Given the description of an element on the screen output the (x, y) to click on. 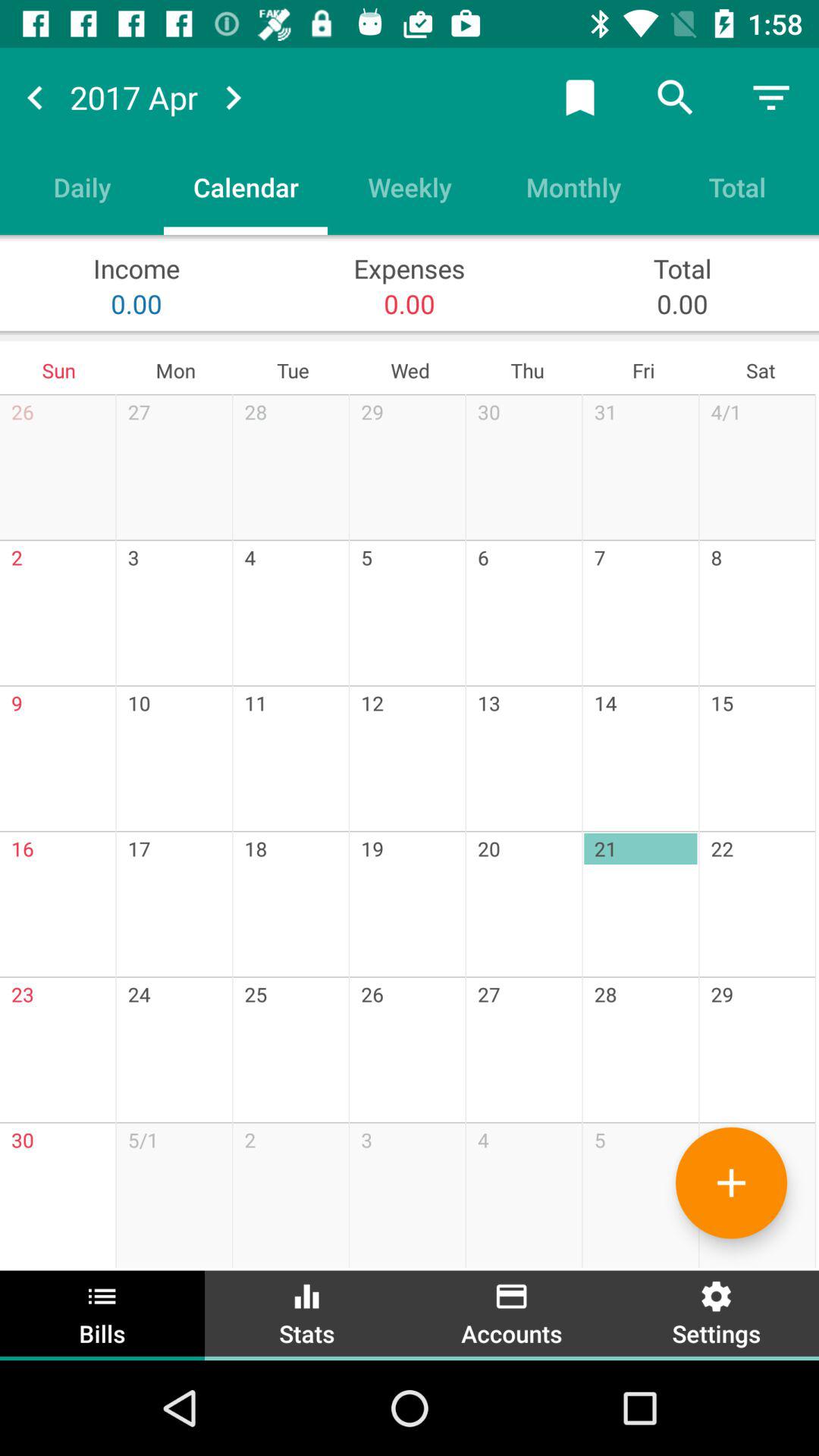
enter search (675, 97)
